Given the description of an element on the screen output the (x, y) to click on. 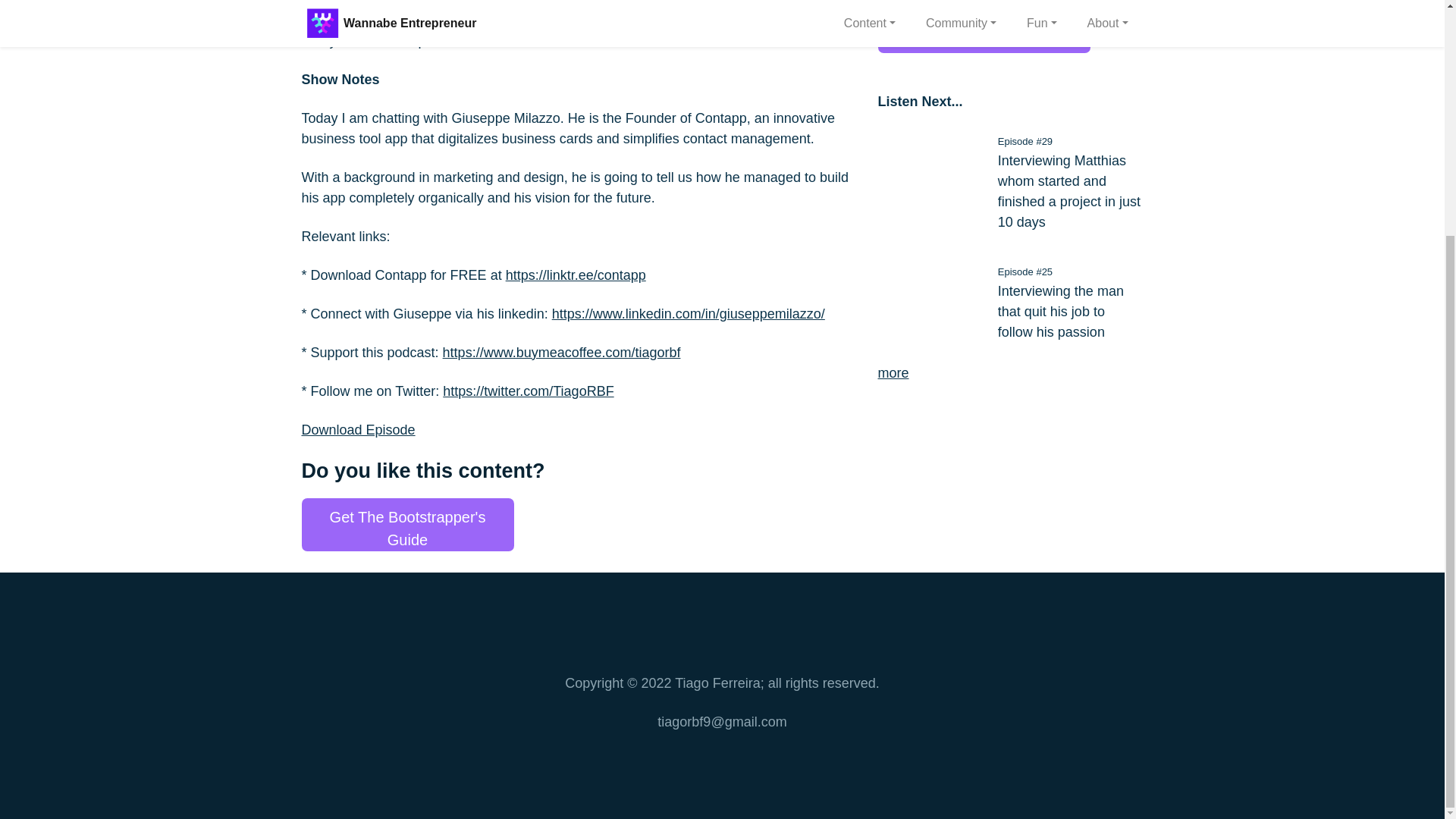
Get The Bootstrapper's Guide (407, 524)
Download Episode (357, 429)
more (892, 372)
Get Your Product Featured (983, 26)
Notify me on new episodes (383, 40)
